Given the description of an element on the screen output the (x, y) to click on. 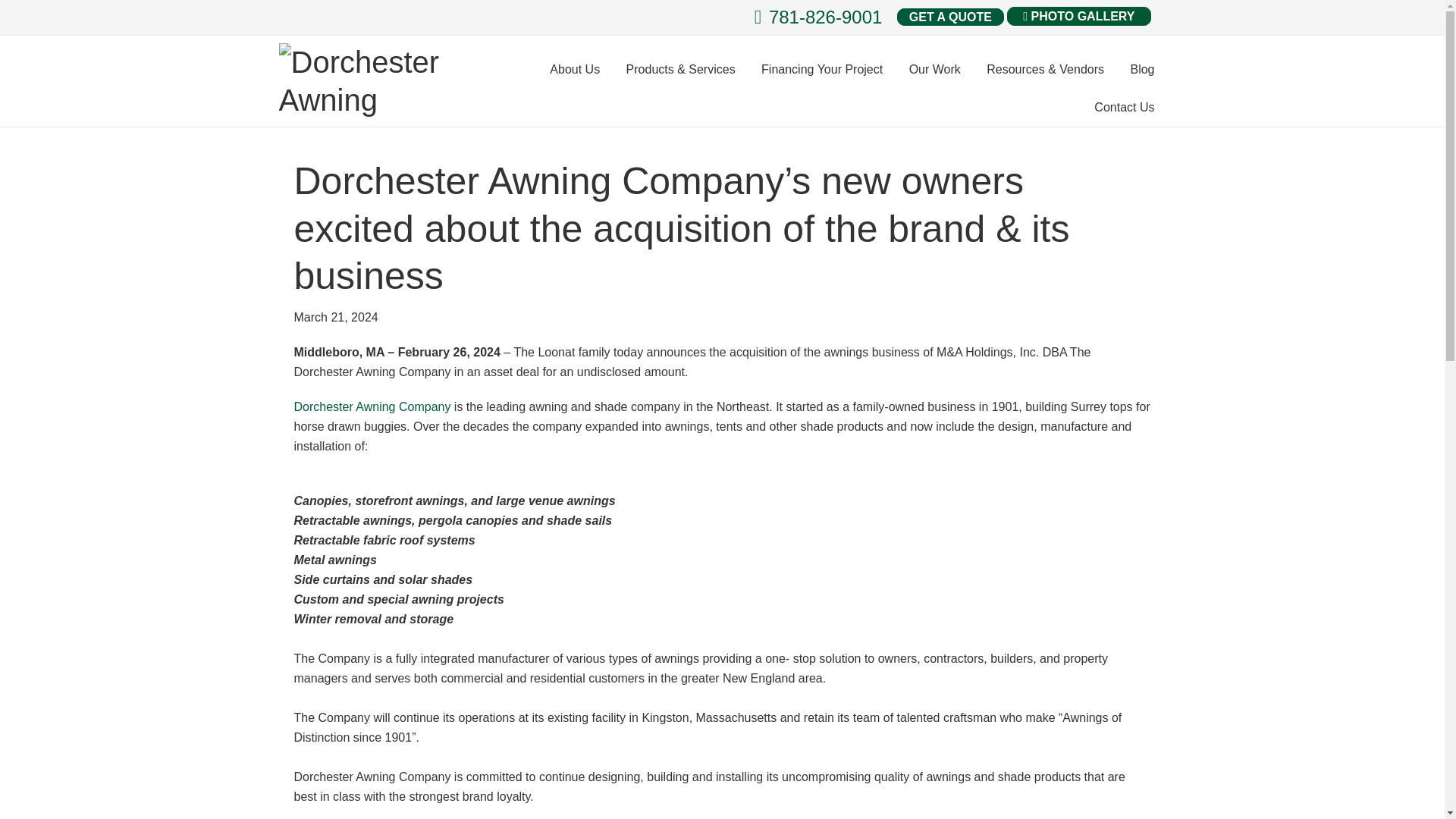
Blog (1142, 69)
About Us (574, 69)
Dorchester Awning Company (372, 406)
Our Work (935, 69)
PHOTO GALLERY (1078, 15)
781-826-9001 (818, 16)
GET A QUOTE (950, 16)
Financing Your Project (821, 69)
Contact Us (1124, 107)
Dorchester Awning (365, 80)
